Given the description of an element on the screen output the (x, y) to click on. 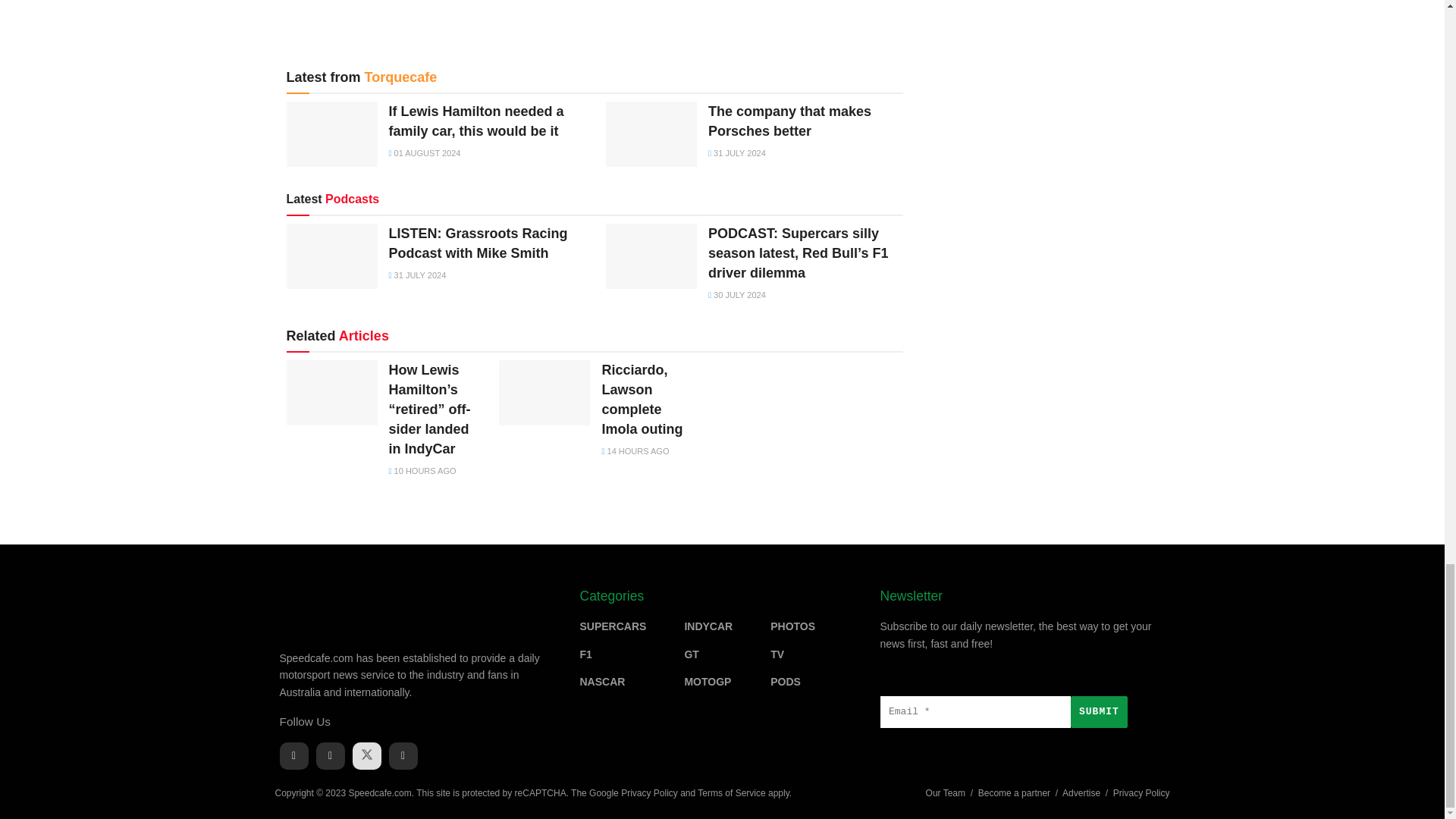
SUBMIT (1098, 712)
